Given the description of an element on the screen output the (x, y) to click on. 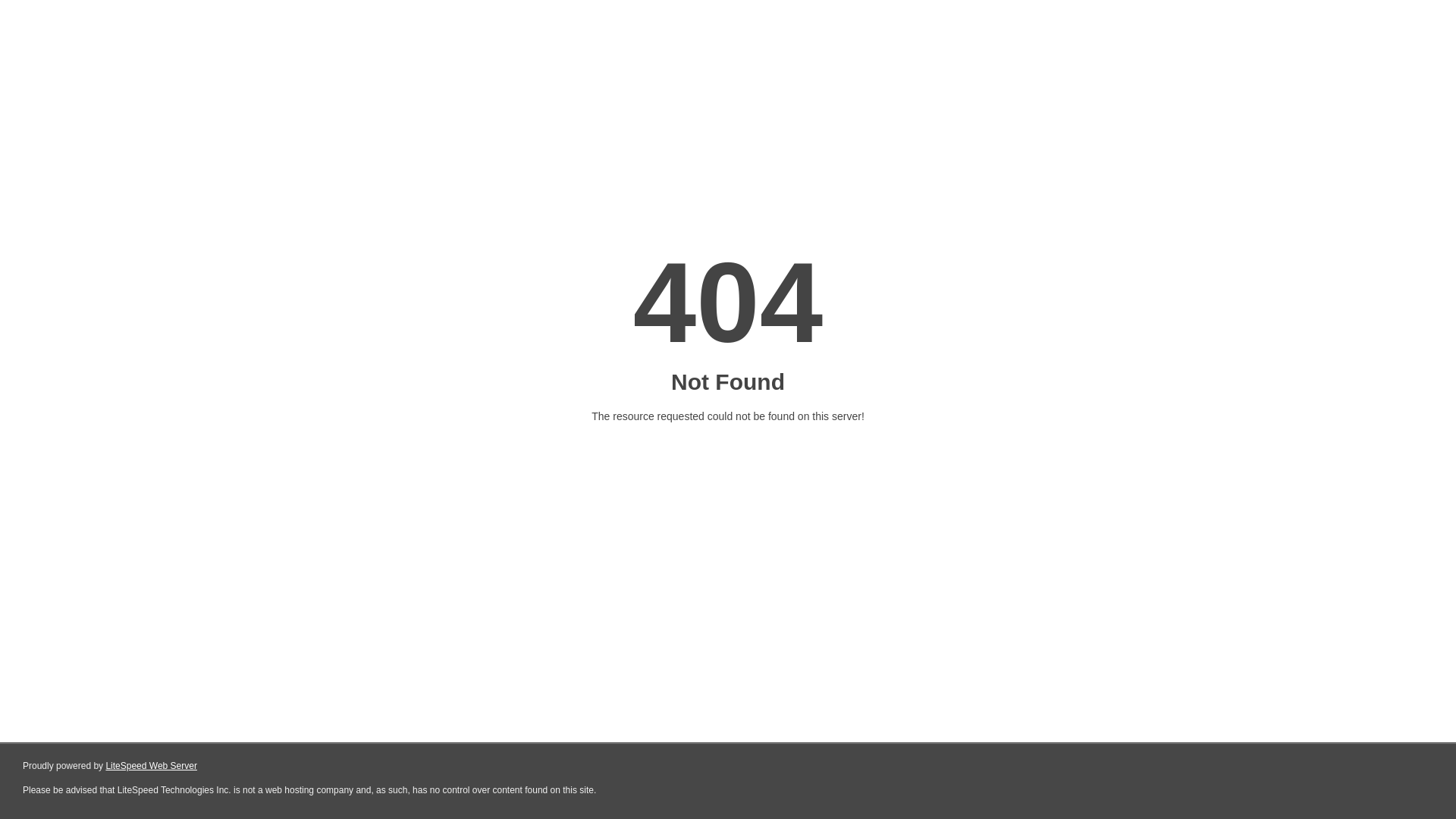
LiteSpeed Web Server Element type: text (151, 765)
